Given the description of an element on the screen output the (x, y) to click on. 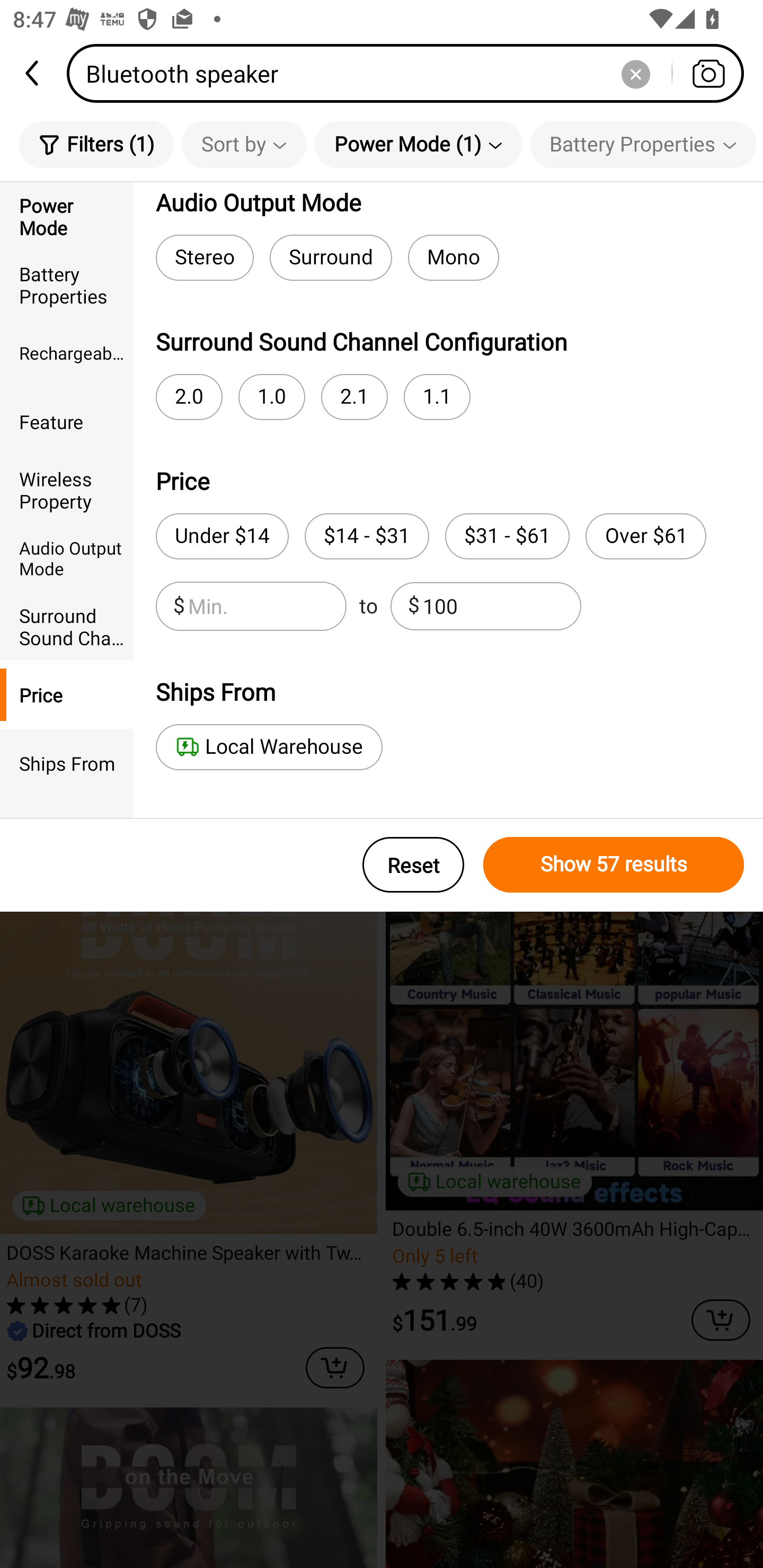
back (33, 72)
Bluetooth speaker (411, 73)
Delete search history (635, 73)
Search by photo (708, 73)
Filters (1) (96, 143)
Sort by (243, 143)
Power Mode (1) (418, 143)
Battery Properties (643, 143)
Power Mode (66, 215)
Stereo (204, 257)
Surround (330, 257)
Mono (453, 257)
Battery Properties (66, 284)
Rechargeable Battery (66, 352)
2.0 (188, 397)
1.0 (271, 397)
2.1 (354, 397)
1.1 (436, 397)
Feature (66, 421)
Wireless Property (66, 489)
Under $14 (221, 535)
$14 - $31 (366, 535)
$31 - $61 (506, 535)
Over $61 (645, 535)
Audio Output Mode (66, 557)
$ Min. to $ 100 (368, 605)
Surround Sound Channel Configuration (66, 626)
Price (66, 694)
Local Warehouse (268, 746)
Ships From (66, 762)
Reset (412, 864)
Show 57 results (612, 864)
